Given the description of an element on the screen output the (x, y) to click on. 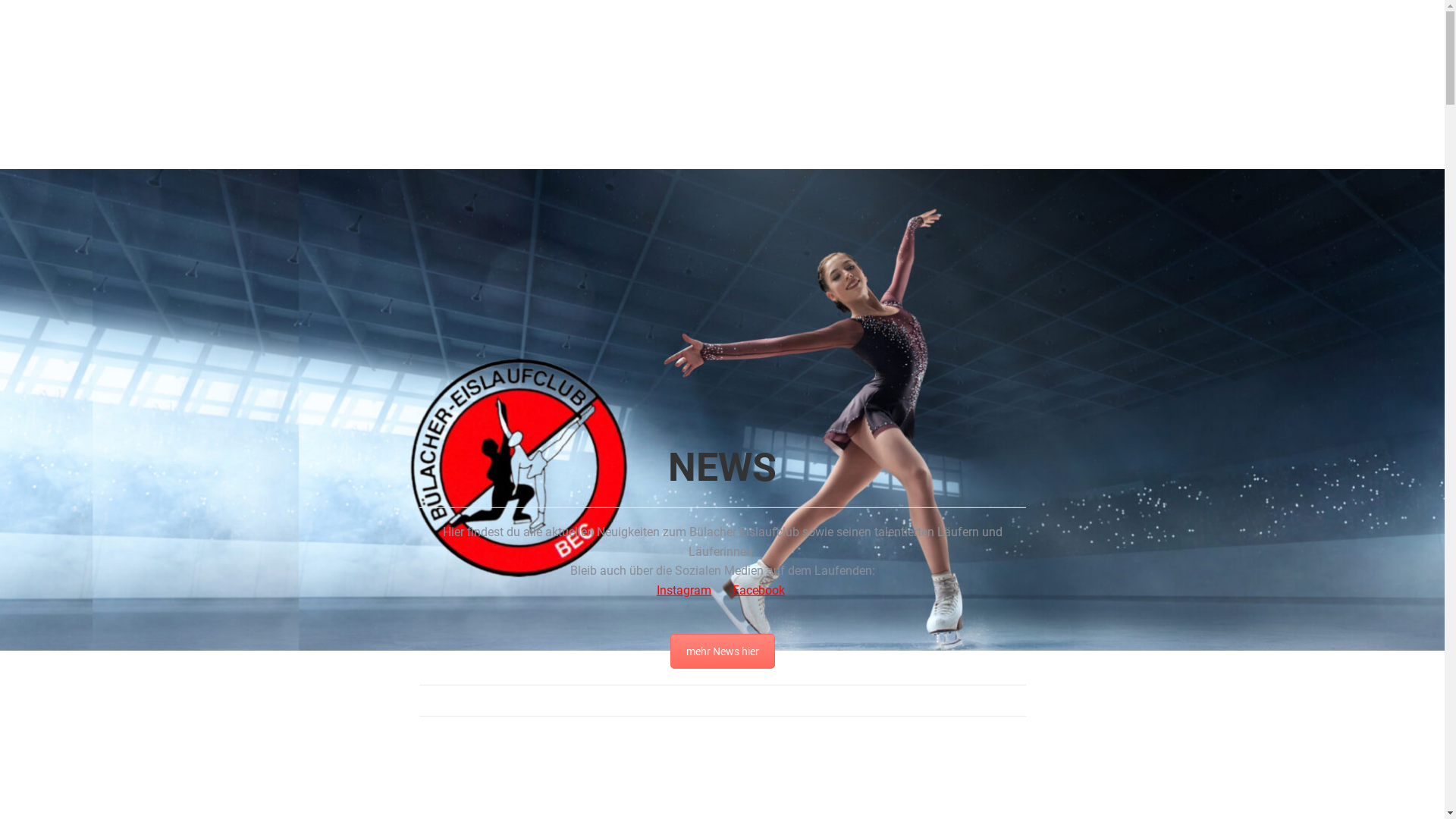
mehr News hier Element type: text (722, 650)
Facebook Element type: text (758, 590)
Instagram Element type: text (683, 590)
